Given the description of an element on the screen output the (x, y) to click on. 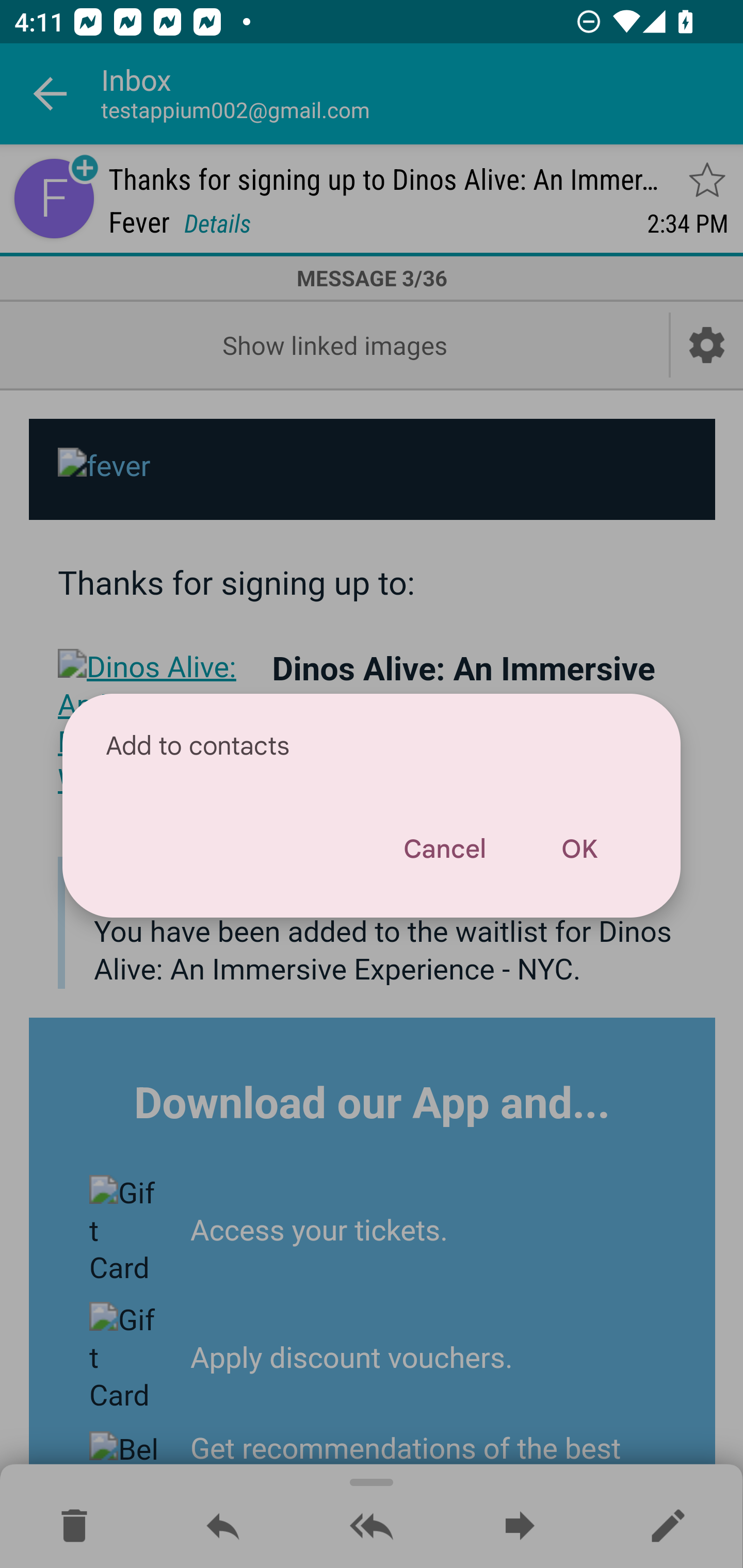
Cancel (444, 848)
OK (579, 848)
